Given the description of an element on the screen output the (x, y) to click on. 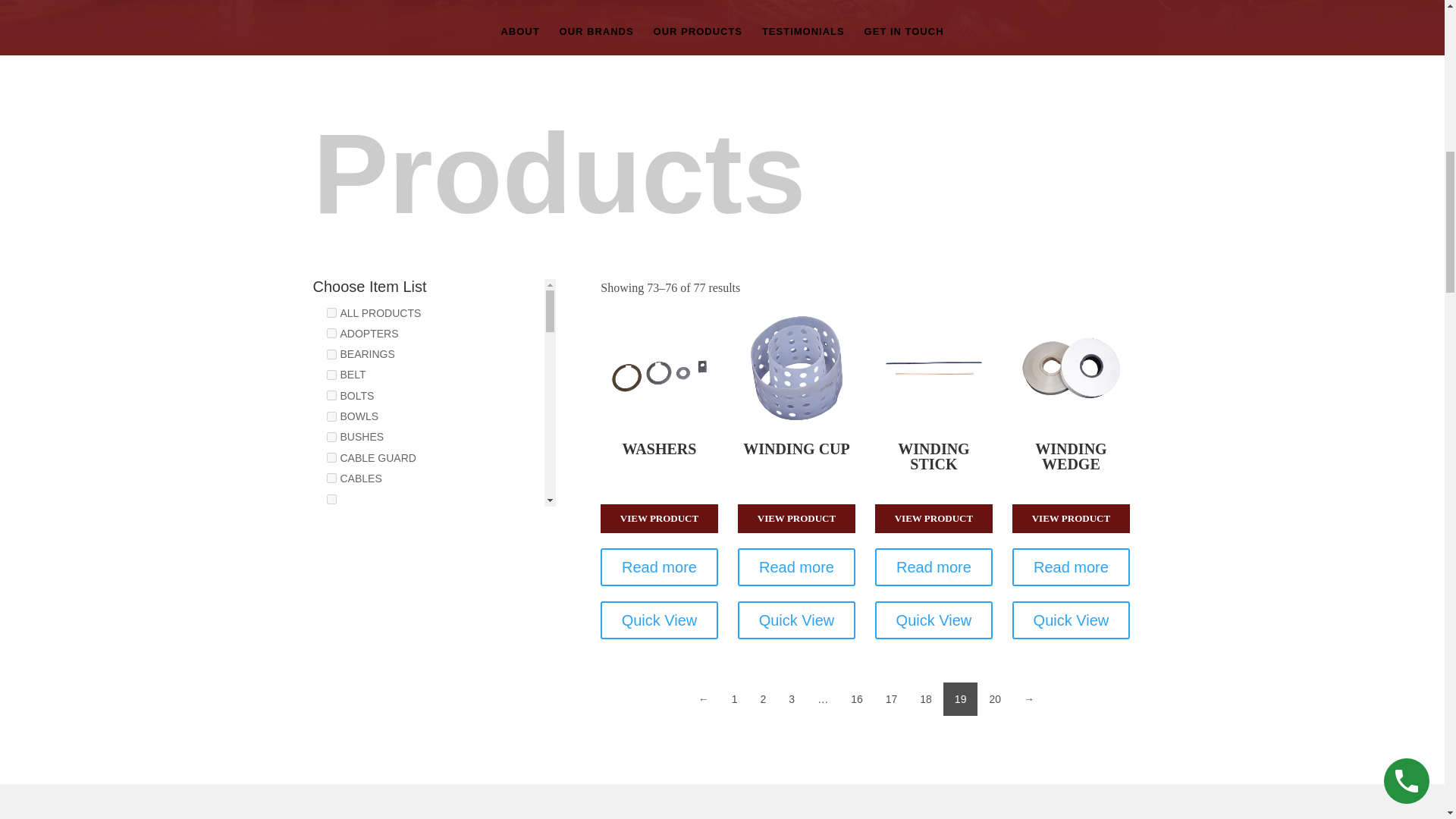
250 (331, 724)
267 (331, 704)
VIEW PRODUCT (796, 518)
16 (857, 698)
210 (331, 499)
228 (331, 395)
226 (331, 354)
241 (331, 662)
235 (331, 375)
220 (331, 642)
